Given the description of an element on the screen output the (x, y) to click on. 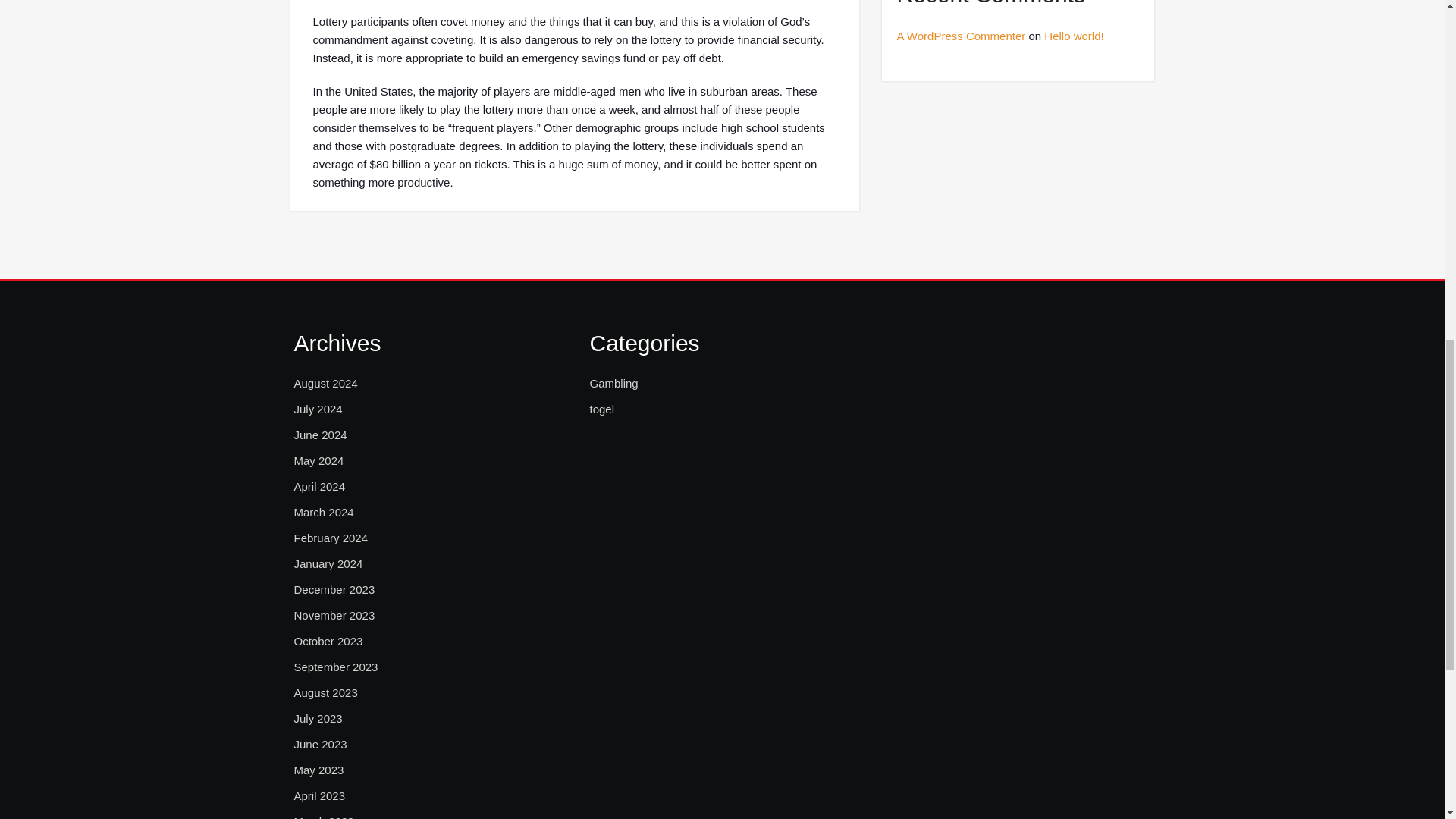
February 2024 (331, 538)
October 2023 (328, 641)
December 2023 (334, 589)
July 2023 (318, 719)
September 2023 (336, 667)
Hello world! (1073, 35)
January 2024 (328, 564)
June 2023 (320, 744)
March 2024 (323, 512)
April 2023 (320, 796)
May 2024 (318, 461)
A WordPress Commenter (960, 35)
August 2024 (326, 383)
March 2023 (323, 816)
August 2023 (326, 692)
